Given the description of an element on the screen output the (x, y) to click on. 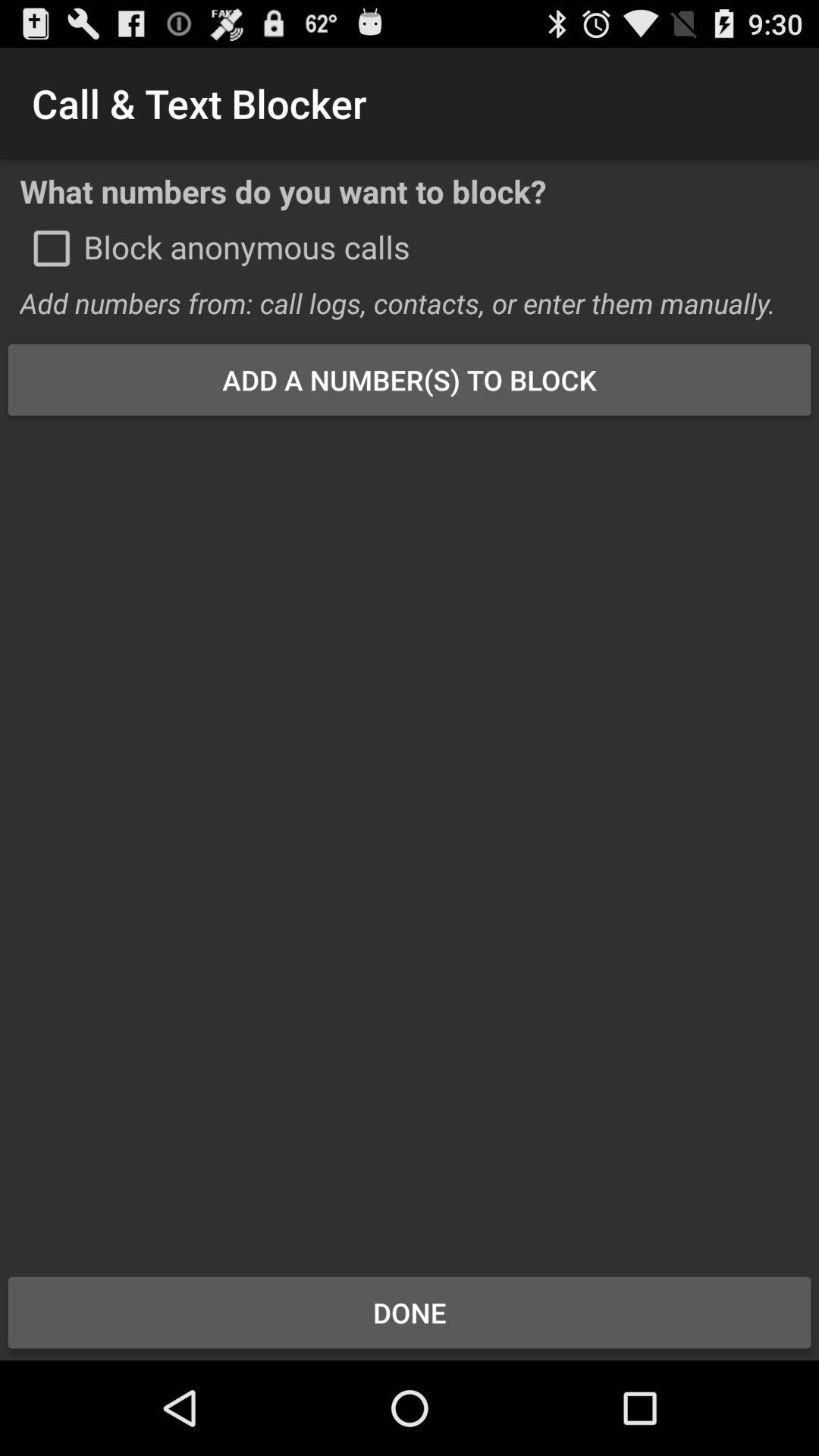
choose the add a number item (409, 379)
